Given the description of an element on the screen output the (x, y) to click on. 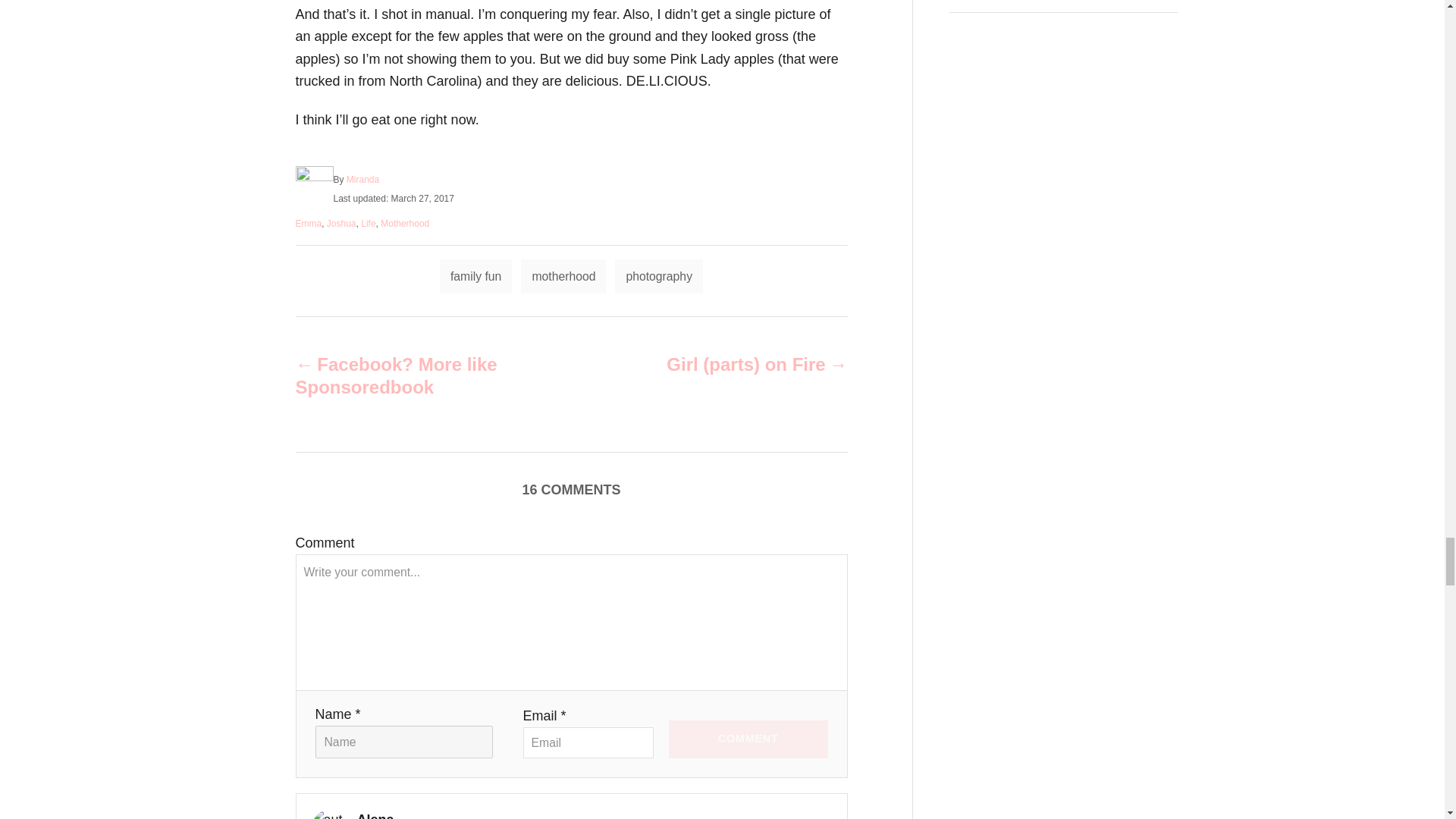
family fun (475, 276)
motherhood (563, 276)
Motherhood (404, 223)
Joshua (341, 223)
Emma (308, 223)
Miranda (362, 179)
photography (658, 276)
Facebook? More like Sponsoredbook (405, 375)
COMMENT (748, 738)
Life (368, 223)
